Given the description of an element on the screen output the (x, y) to click on. 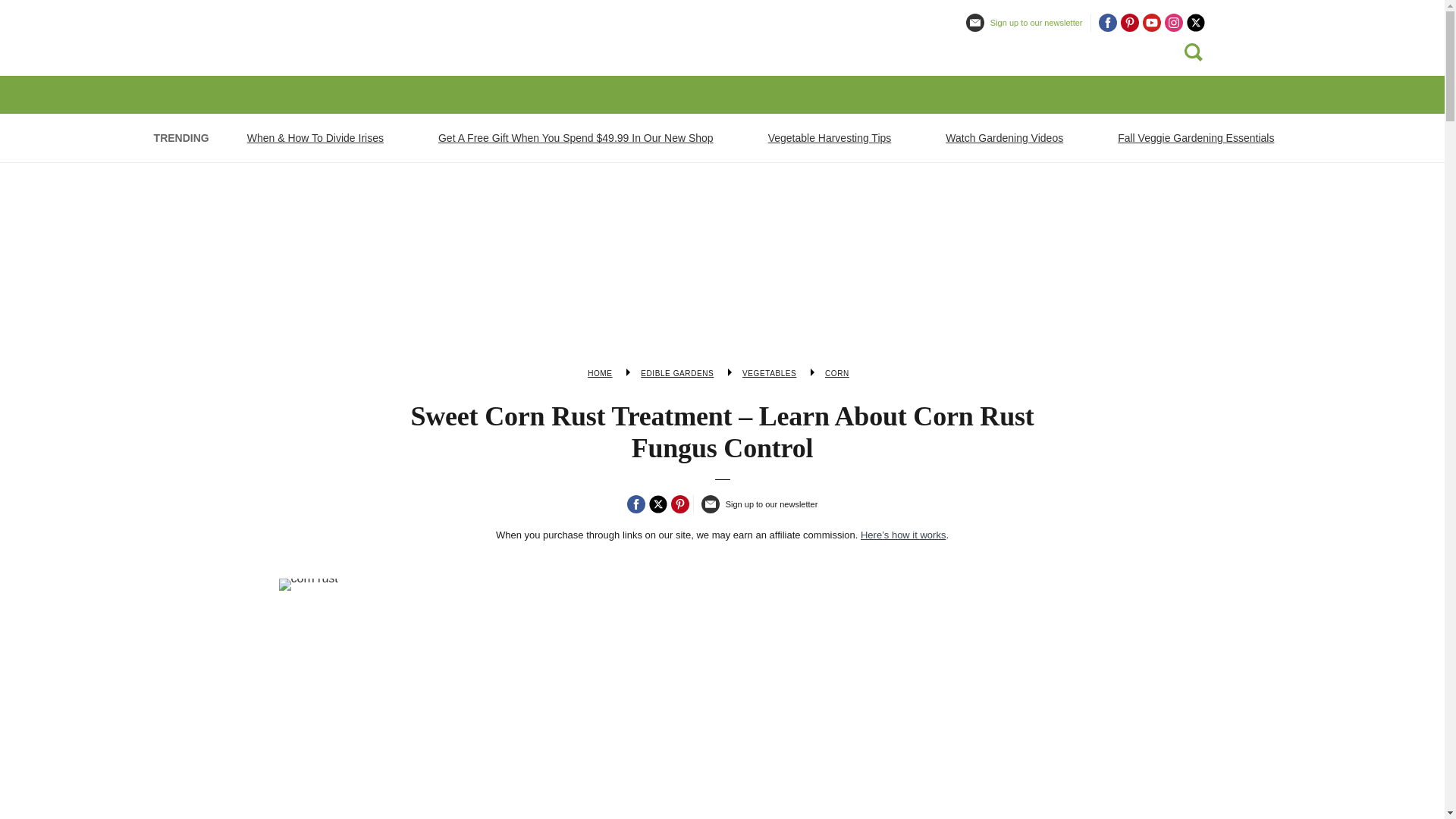
SUSTAINABLE GARDENING (943, 91)
REGIONAL GARDENING (781, 91)
HOUSEPLANTS (561, 91)
PROBLEMS (660, 91)
